Given the description of an element on the screen output the (x, y) to click on. 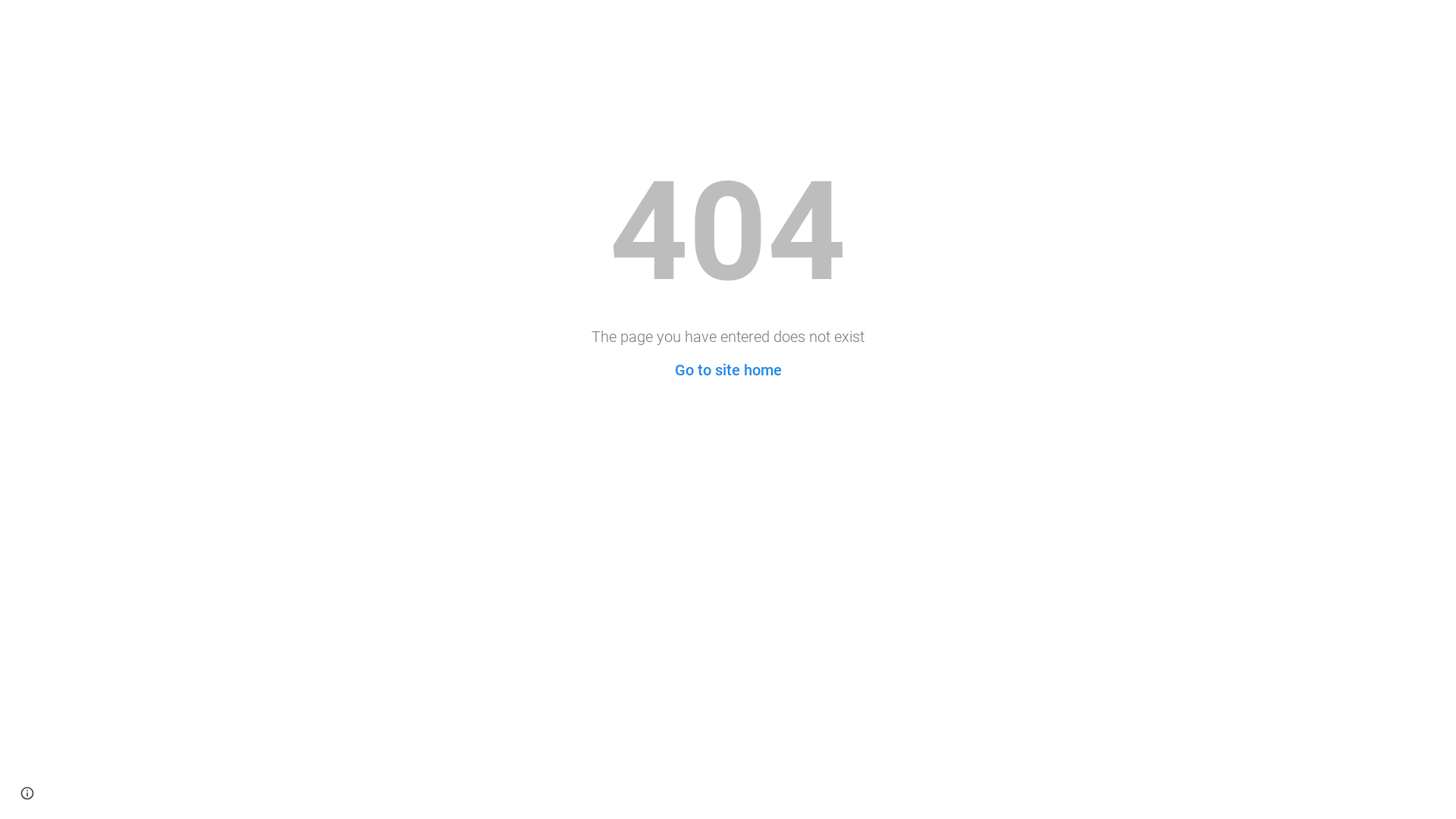
Go to site home Element type: text (727, 369)
